Given the description of an element on the screen output the (x, y) to click on. 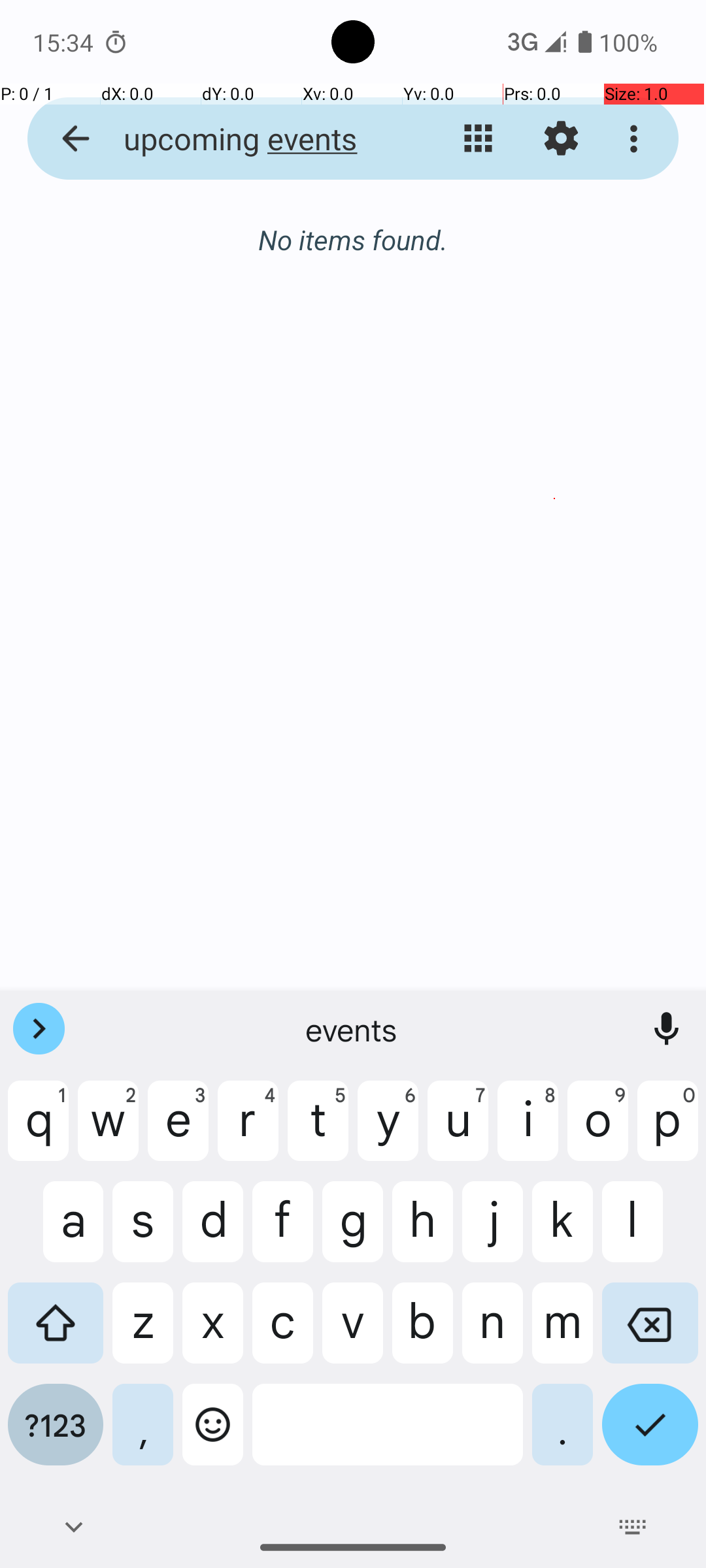
upcoming events Element type: android.widget.EditText (252, 138)
events Element type: android.widget.FrameLayout (352, 1028)
